Given the description of an element on the screen output the (x, y) to click on. 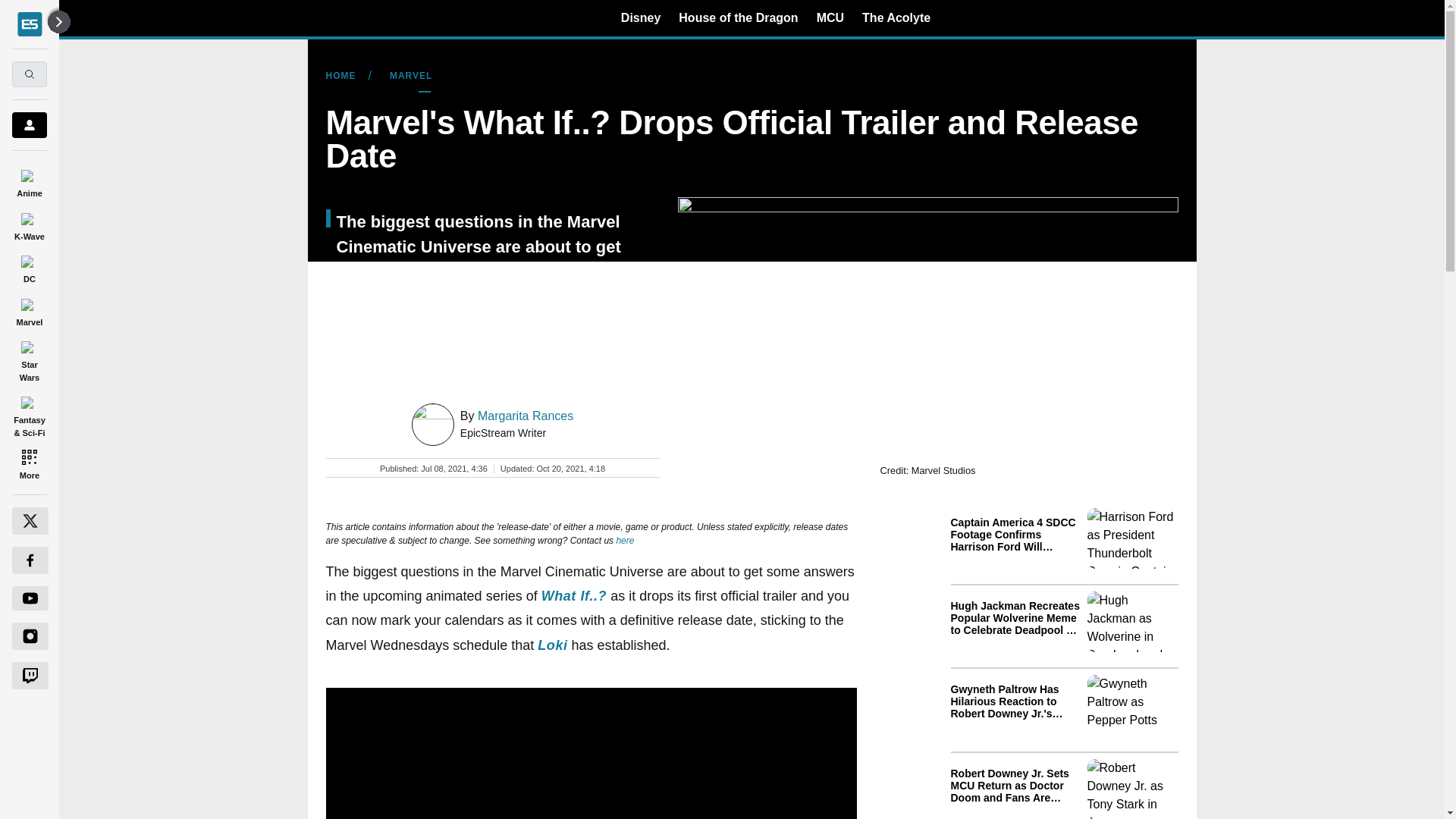
K-Wave (28, 224)
More (28, 463)
House of the Dragon (737, 18)
DC (28, 266)
Anime (28, 180)
The Acolyte (895, 18)
Marvel (28, 309)
MCU (830, 18)
Disney (641, 18)
